Given the description of an element on the screen output the (x, y) to click on. 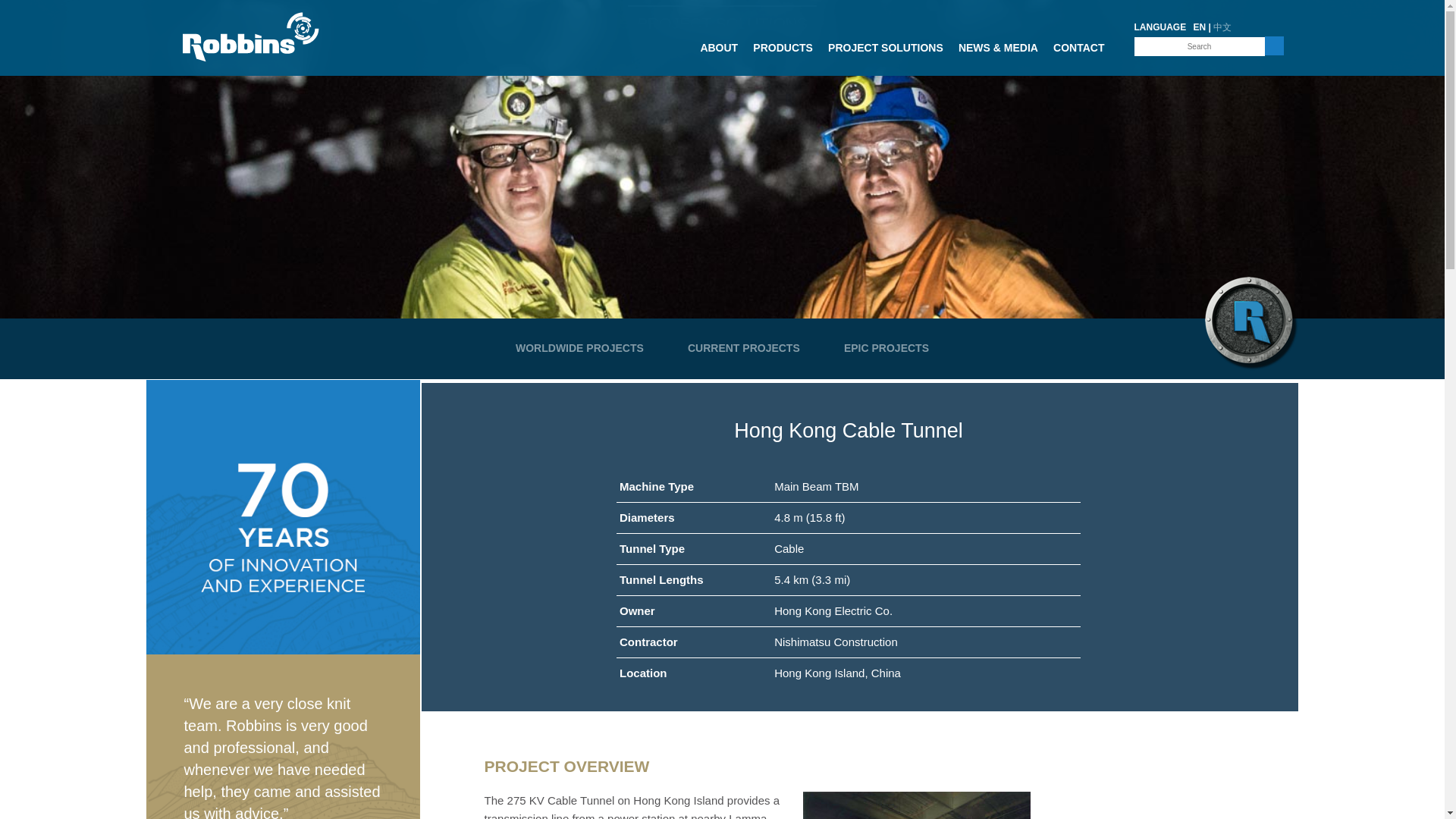
ABOUT (719, 51)
PRODUCTS (782, 51)
PROJECT SOLUTIONS (885, 51)
